Given the description of an element on the screen output the (x, y) to click on. 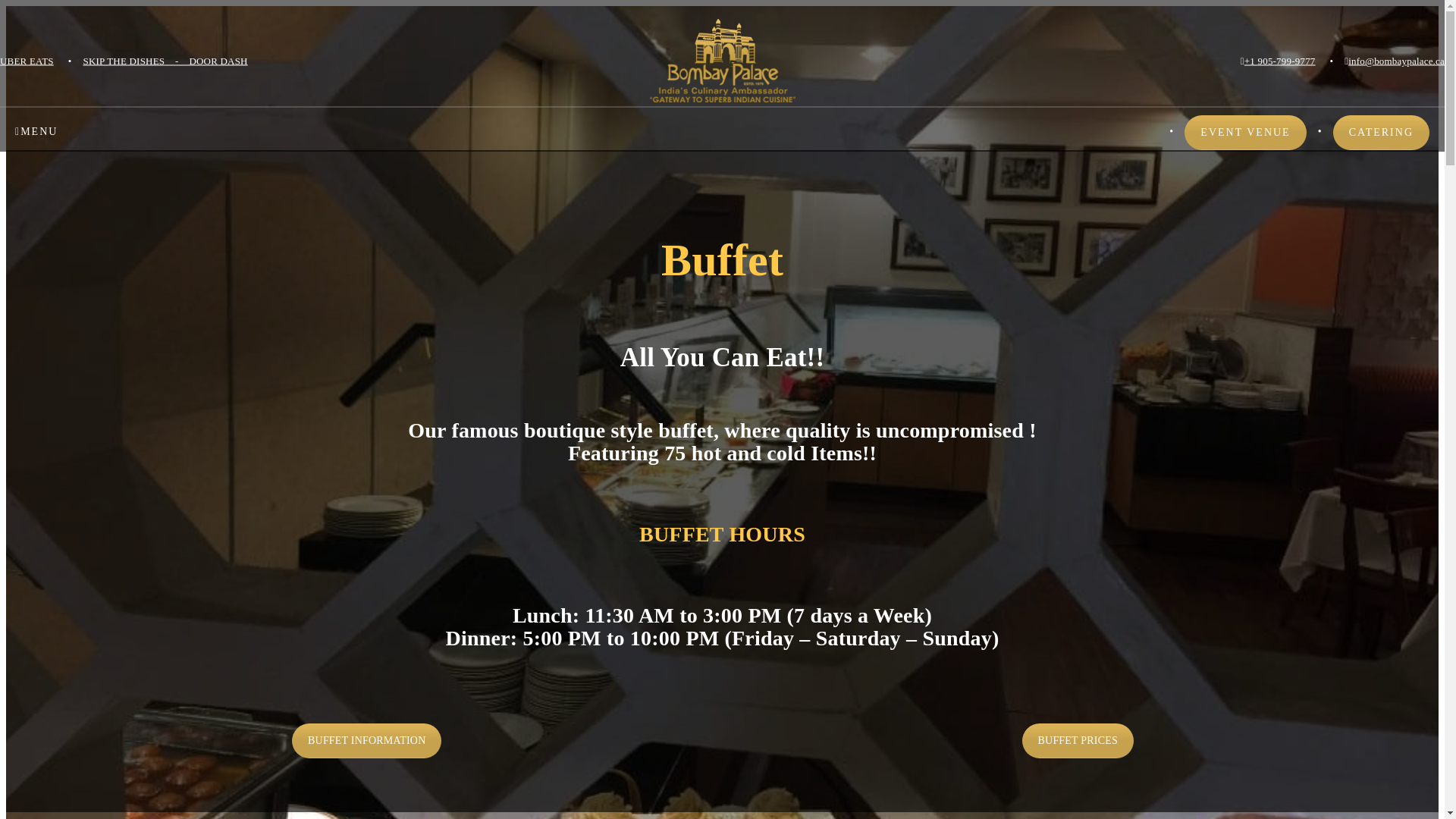
BUFFET INFORMATION (366, 740)
SKIP THE DISHES (123, 60)
UBER EATS (26, 60)
    -    DOOR DASH (205, 60)
Bombay palace (721, 60)
Bombay palace (721, 60)
CATERING (1381, 132)
EVENT VENUE (1245, 132)
BUFFET PRICES (1078, 740)
